Given the description of an element on the screen output the (x, y) to click on. 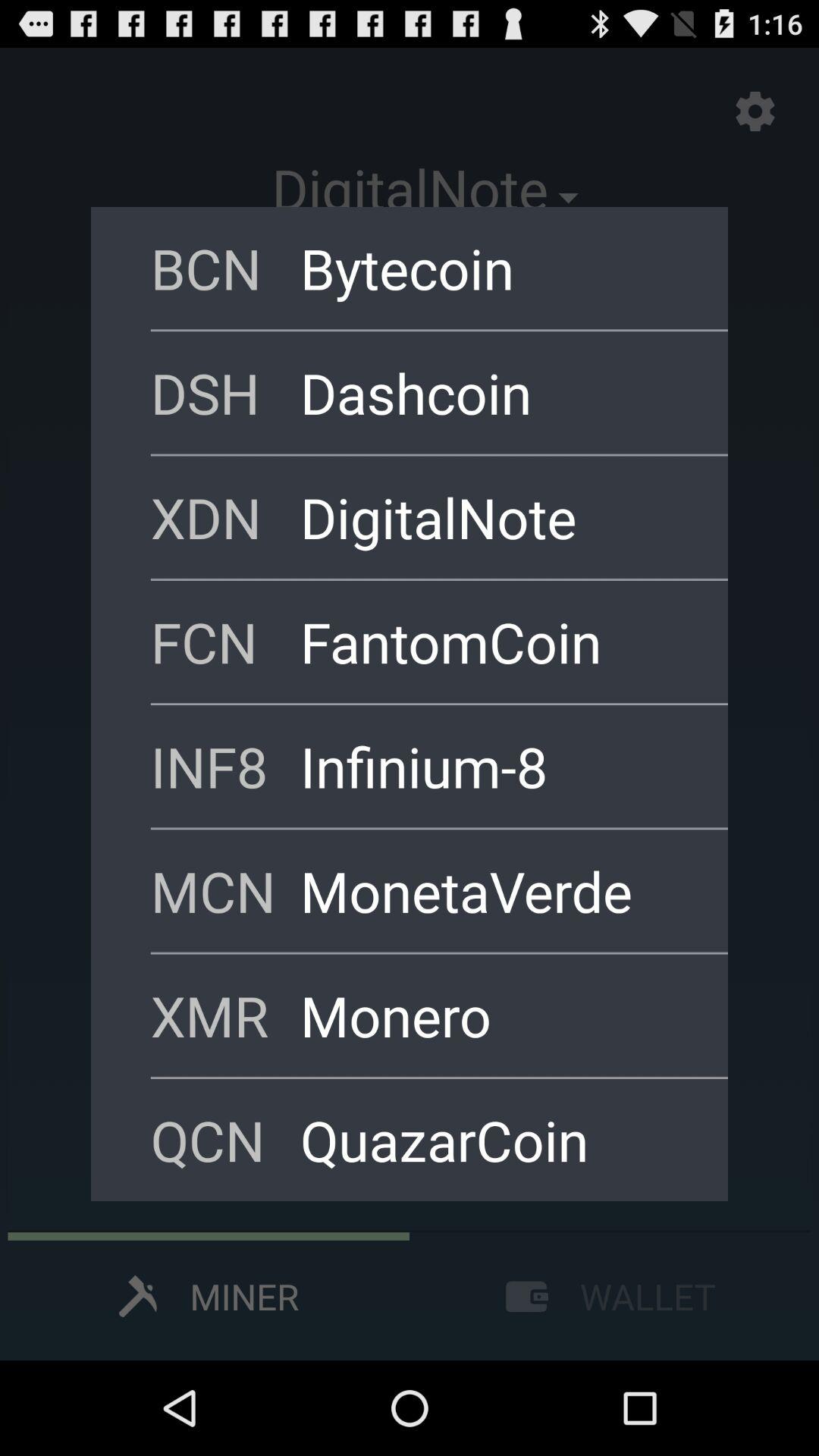
tap the monero (494, 1015)
